Given the description of an element on the screen output the (x, y) to click on. 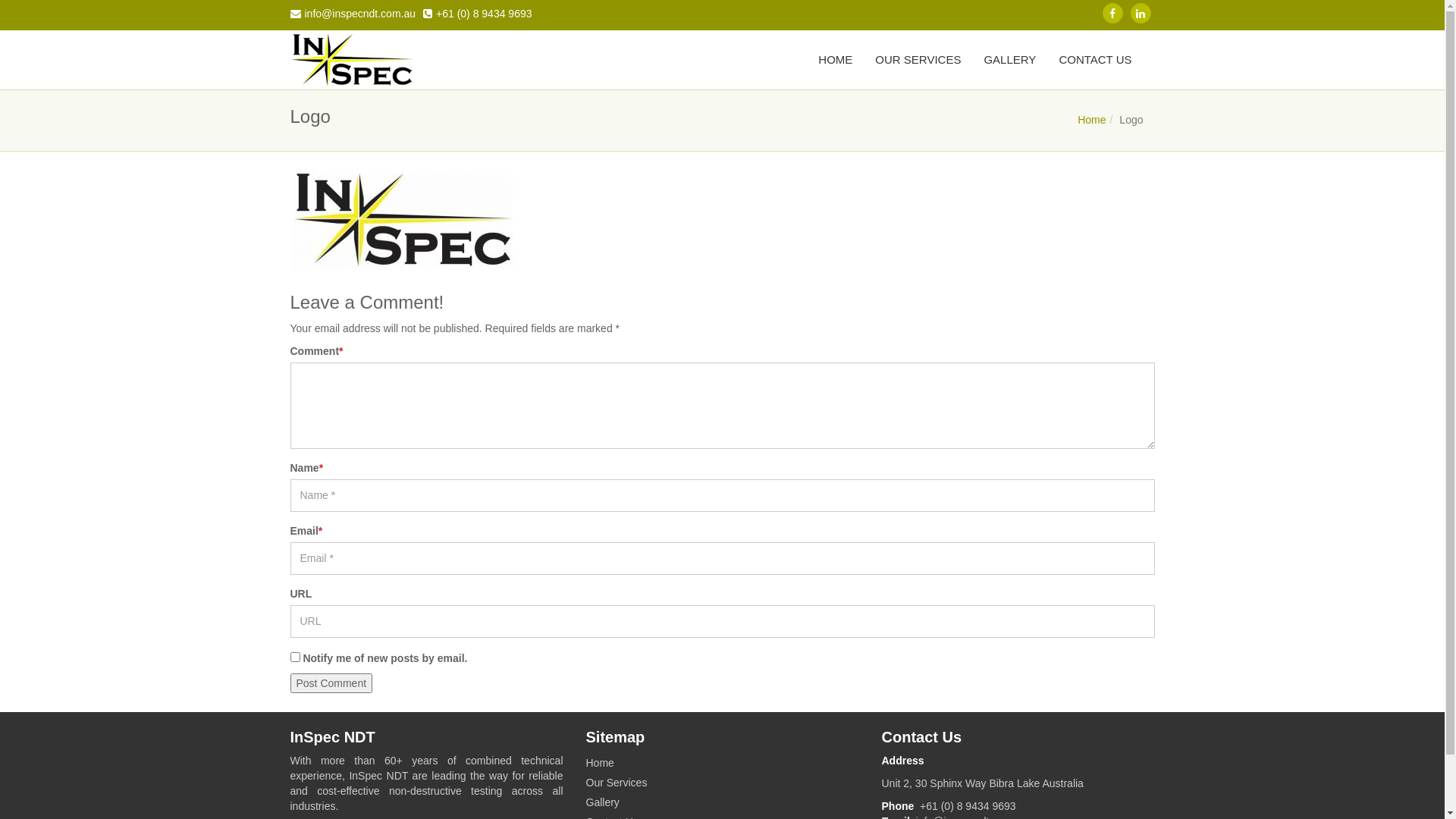
Inspec NDT Element type: hover (351, 59)
CONTACT US Element type: text (1094, 59)
Home Element type: text (721, 762)
Gallery Element type: text (721, 802)
Name * Element type: hover (721, 495)
GALLERY Element type: text (1009, 59)
Home Element type: text (1091, 119)
HOME Element type: text (834, 59)
Our Services Element type: text (721, 782)
Post Comment Element type: text (330, 683)
OUR SERVICES Element type: text (917, 59)
Linkedin Element type: hover (1139, 13)
+61 (0) 8 9434 9693 Element type: text (477, 10)
info@inspecndt.com.au Element type: text (352, 10)
Facebook Element type: hover (1112, 13)
URL Element type: hover (721, 621)
Email * Element type: hover (721, 558)
Message Element type: hover (721, 405)
